Given the description of an element on the screen output the (x, y) to click on. 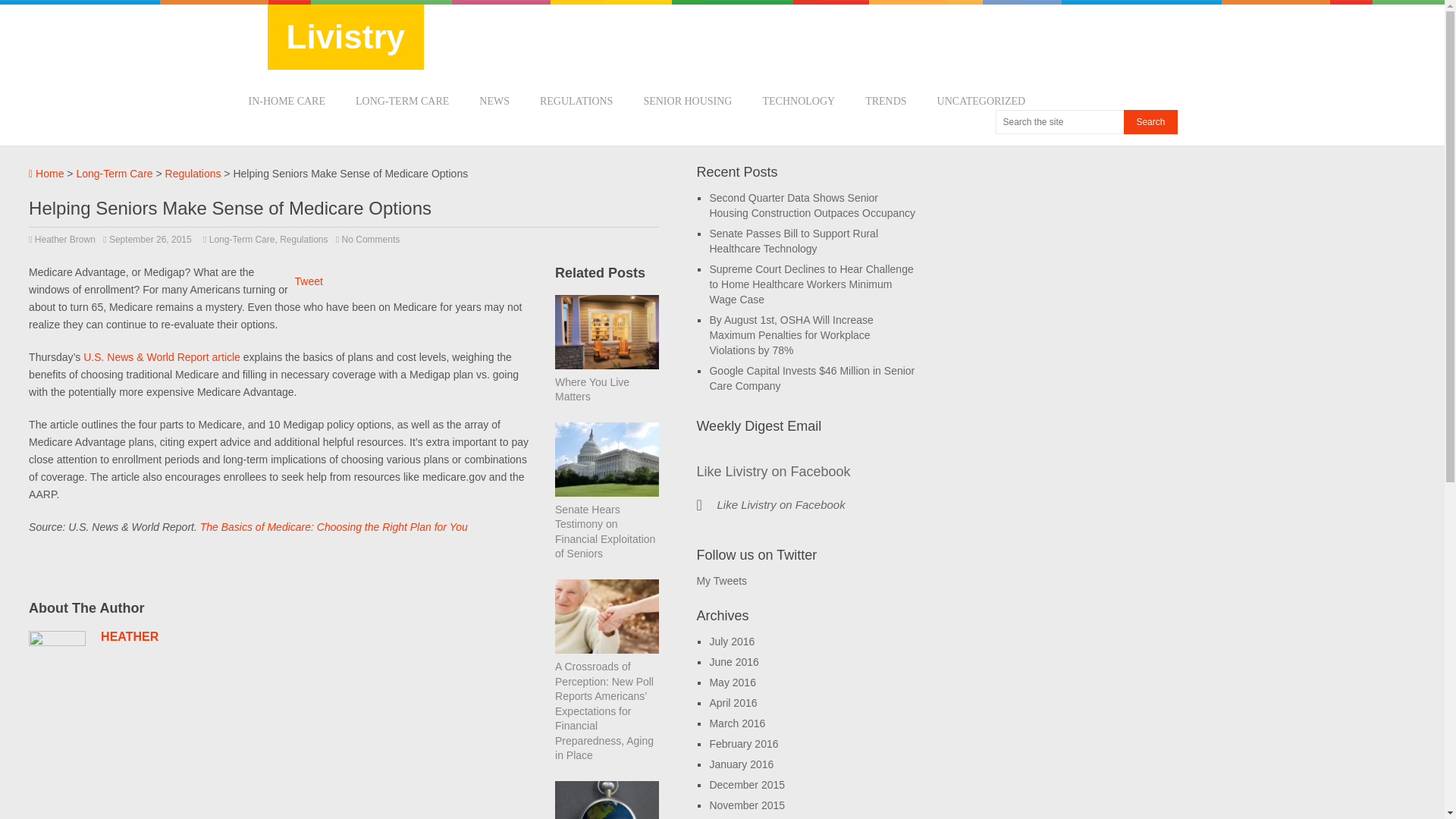
Like Livistry on Facebook (780, 504)
Regulations (193, 173)
Regulations (303, 239)
News Related to Assisted Living and Senior Living Facilities (687, 101)
The Basics of Medicare: Choosing the Right Plan for You (333, 526)
TRENDS (884, 101)
 Home (46, 173)
LONG-TERM CARE (401, 101)
SENIOR HOUSING (687, 101)
